Given the description of an element on the screen output the (x, y) to click on. 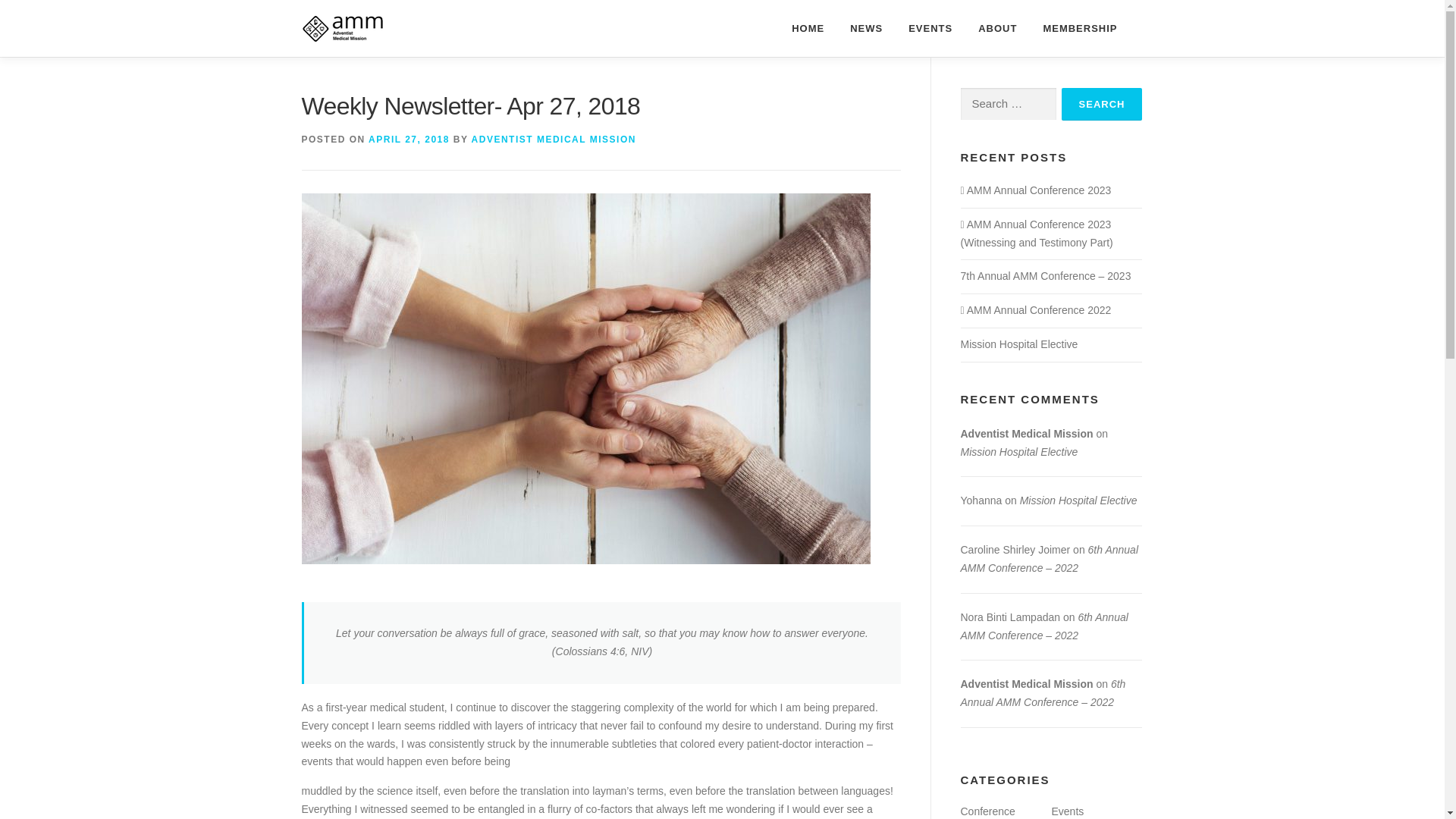
HOME (807, 28)
EVENTS (930, 28)
ADVENTIST MEDICAL MISSION (553, 139)
Search (1101, 103)
Search (1101, 103)
APRIL 27, 2018 (408, 139)
Mission Hospital Elective (1018, 451)
Mission Hospital Elective (1078, 500)
Mission Hospital Elective (1018, 344)
Events (1067, 811)
